Given the description of an element on the screen output the (x, y) to click on. 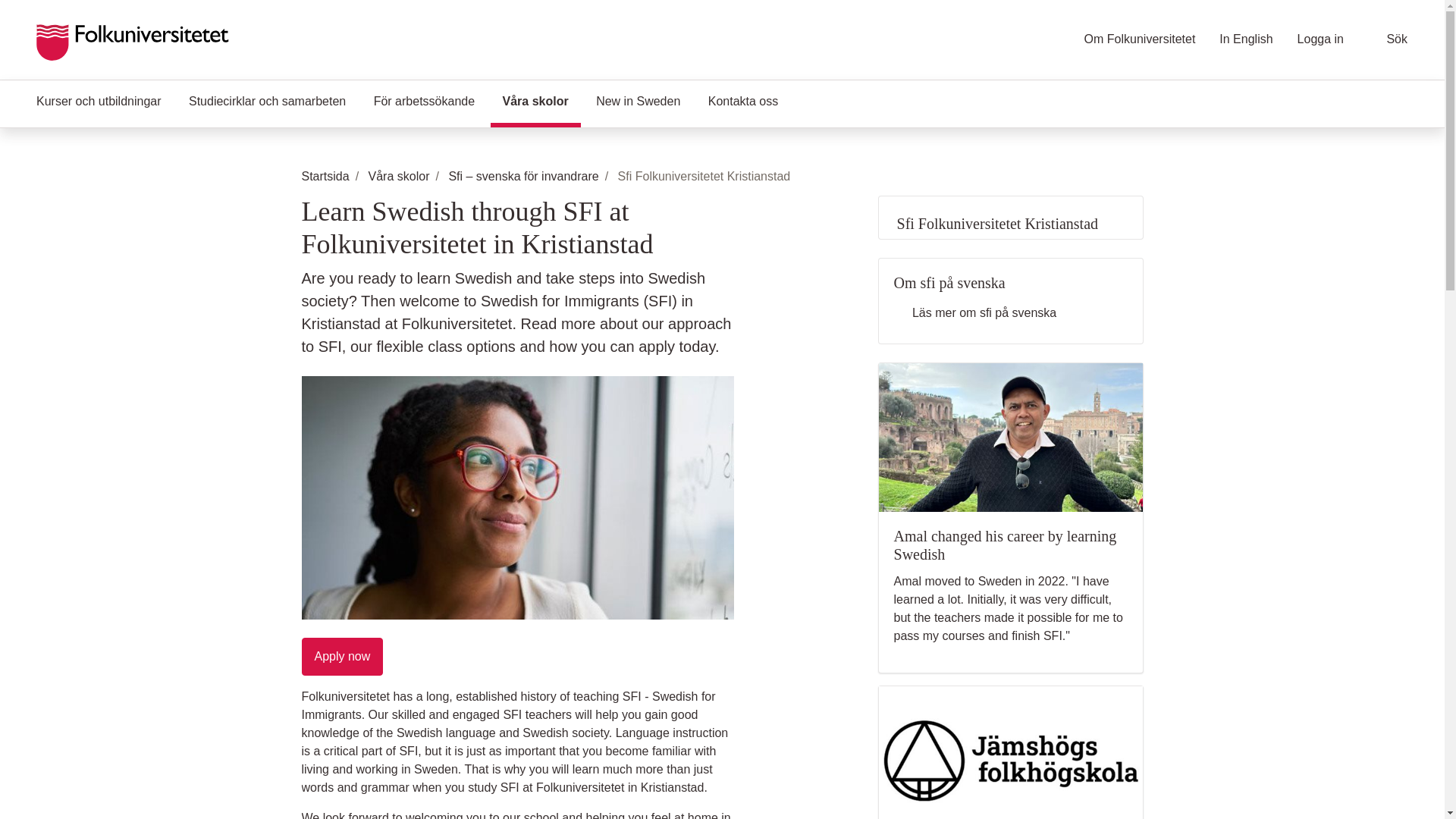
Startsida (325, 176)
Kontakta oss (742, 103)
In English (1246, 39)
Studiecirklar och samarbeten (267, 103)
Om Folkuniversitetet (1139, 39)
Kurser och utbildningar (98, 103)
New in Sweden (638, 103)
Logga in (1320, 39)
Apply now (342, 656)
Sfi Folkuniversitetet Kristianstad (1010, 217)
